Given the description of an element on the screen output the (x, y) to click on. 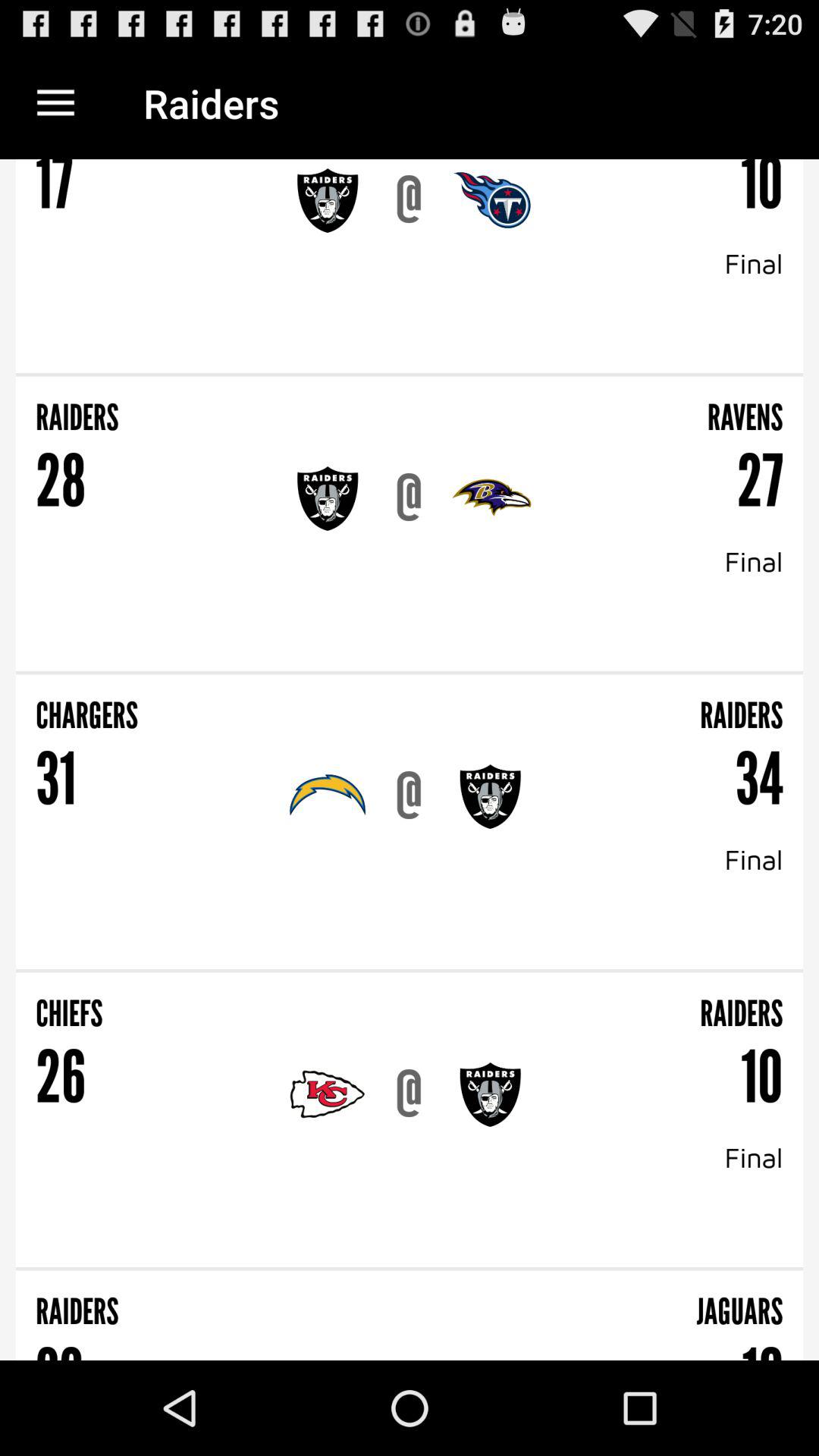
press the item above the 17 (55, 103)
